Given the description of an element on the screen output the (x, y) to click on. 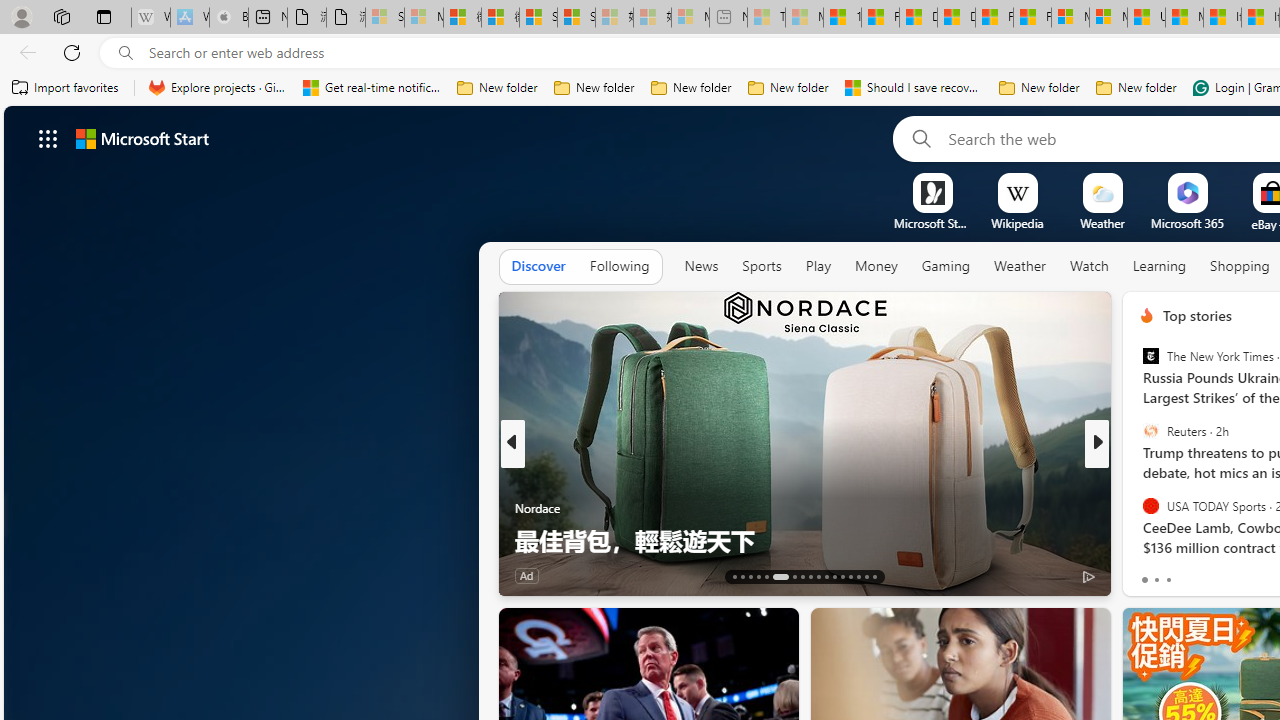
Top stories (1196, 315)
AutomationID: tab-18 (780, 576)
AutomationID: tab-17 (765, 576)
View comments 7 Comment (1234, 574)
tab-1 (1156, 579)
AutomationID: tab-14 (742, 576)
AutomationID: tab-13 (733, 576)
